Given the description of an element on the screen output the (x, y) to click on. 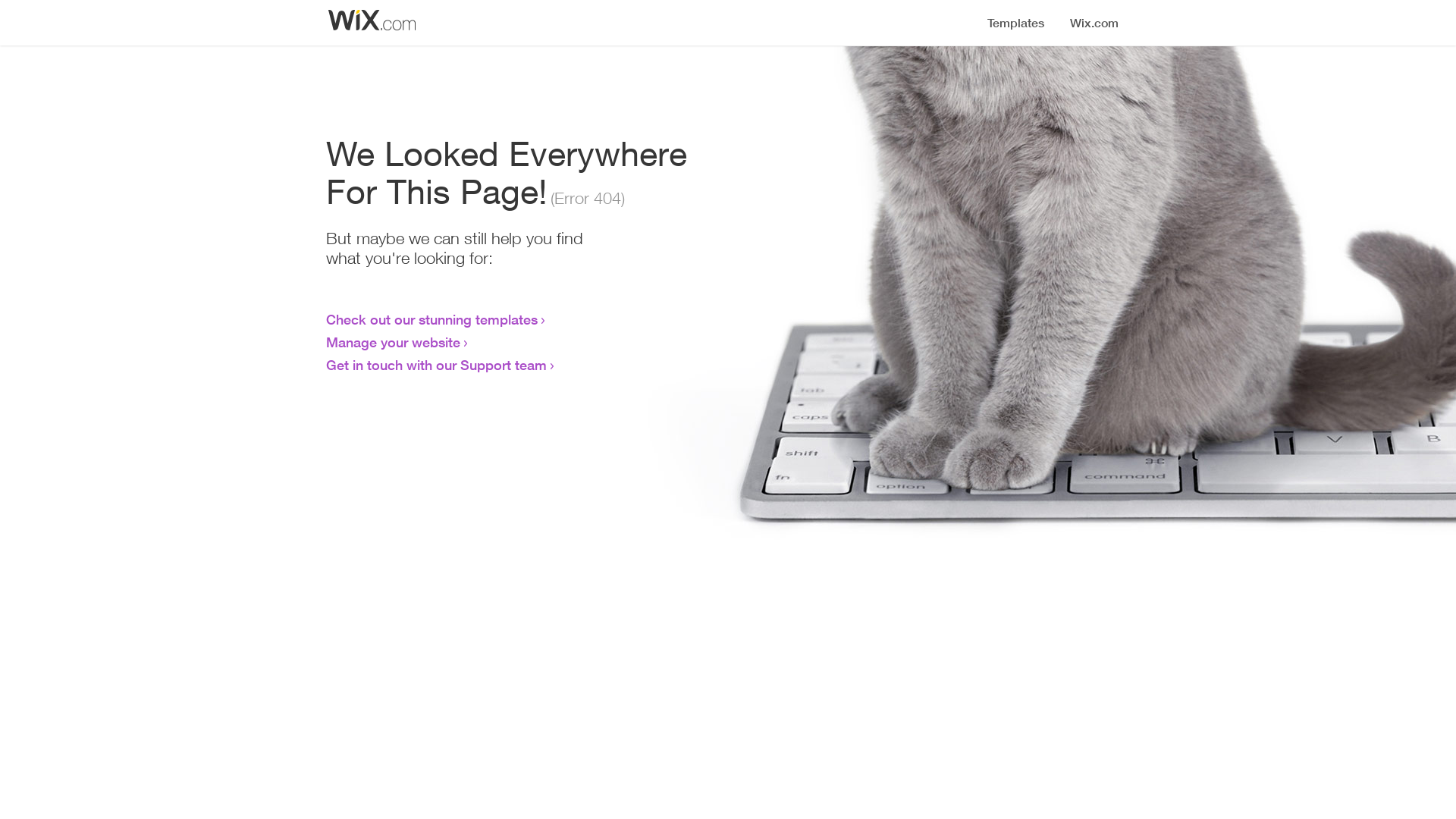
Manage your website Element type: text (393, 341)
Check out our stunning templates Element type: text (431, 318)
Get in touch with our Support team Element type: text (436, 364)
